Given the description of an element on the screen output the (x, y) to click on. 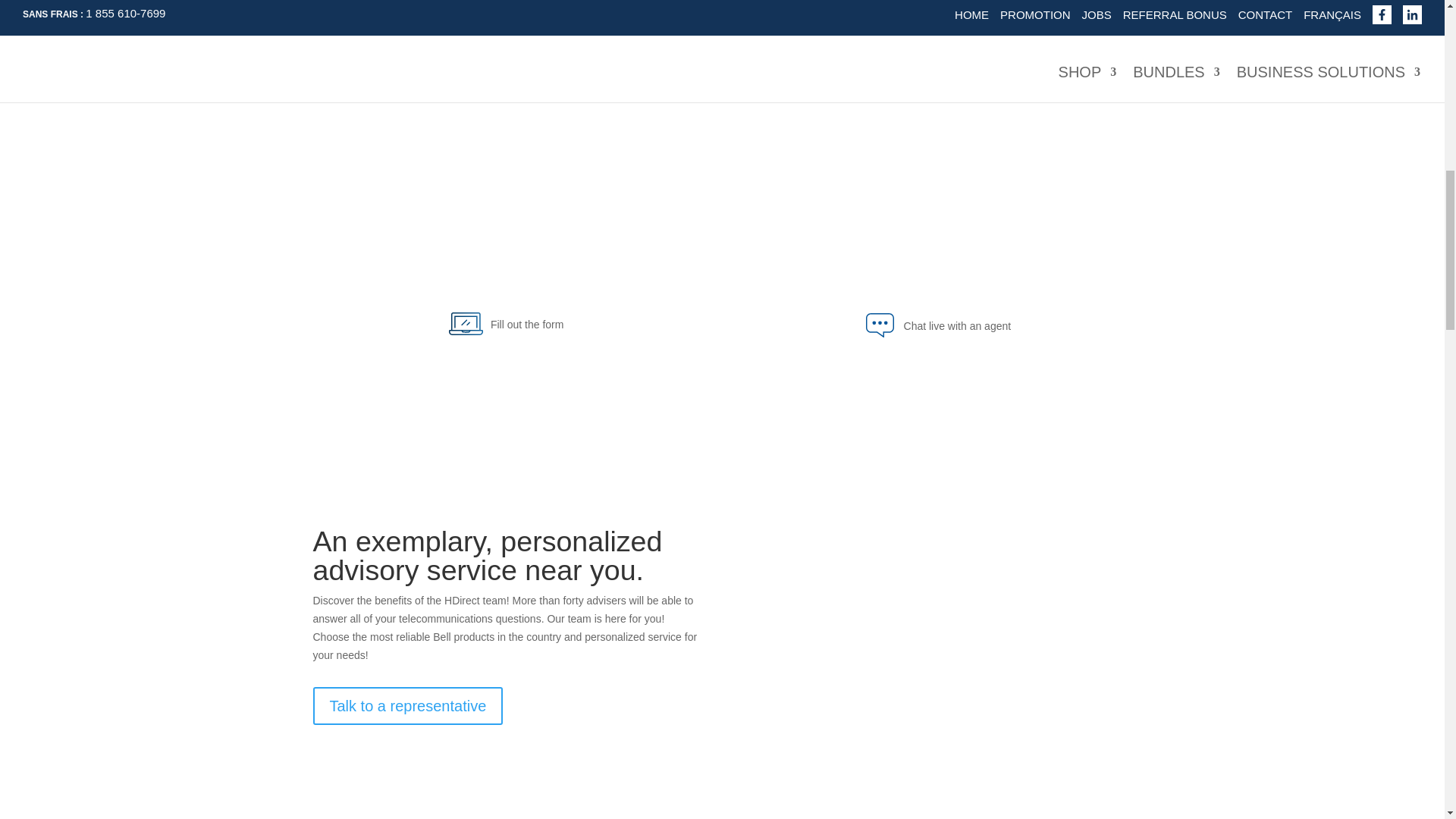
Talk to a representative (407, 705)
